Given the description of an element on the screen output the (x, y) to click on. 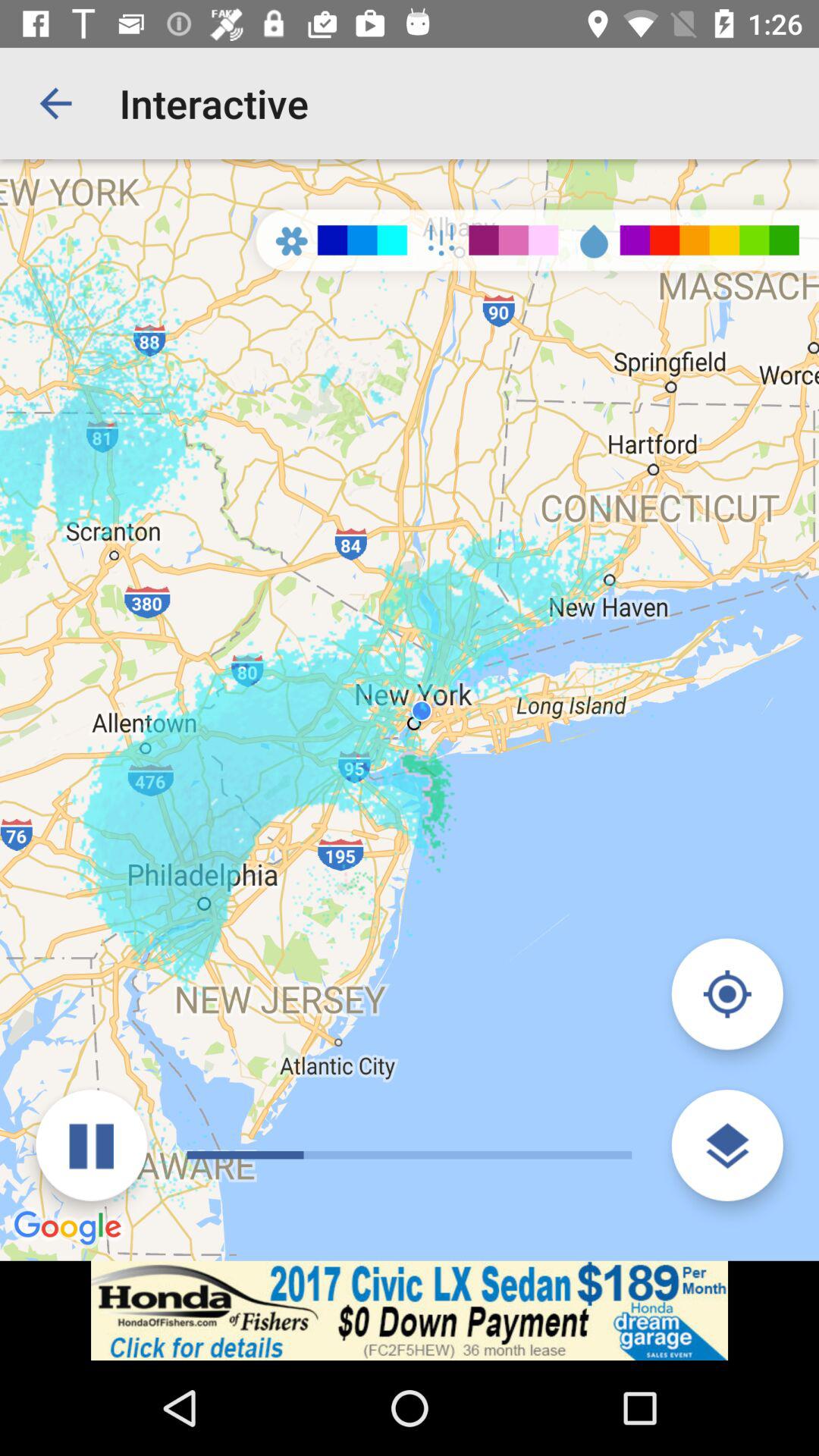
show my location (727, 993)
